Given the description of an element on the screen output the (x, y) to click on. 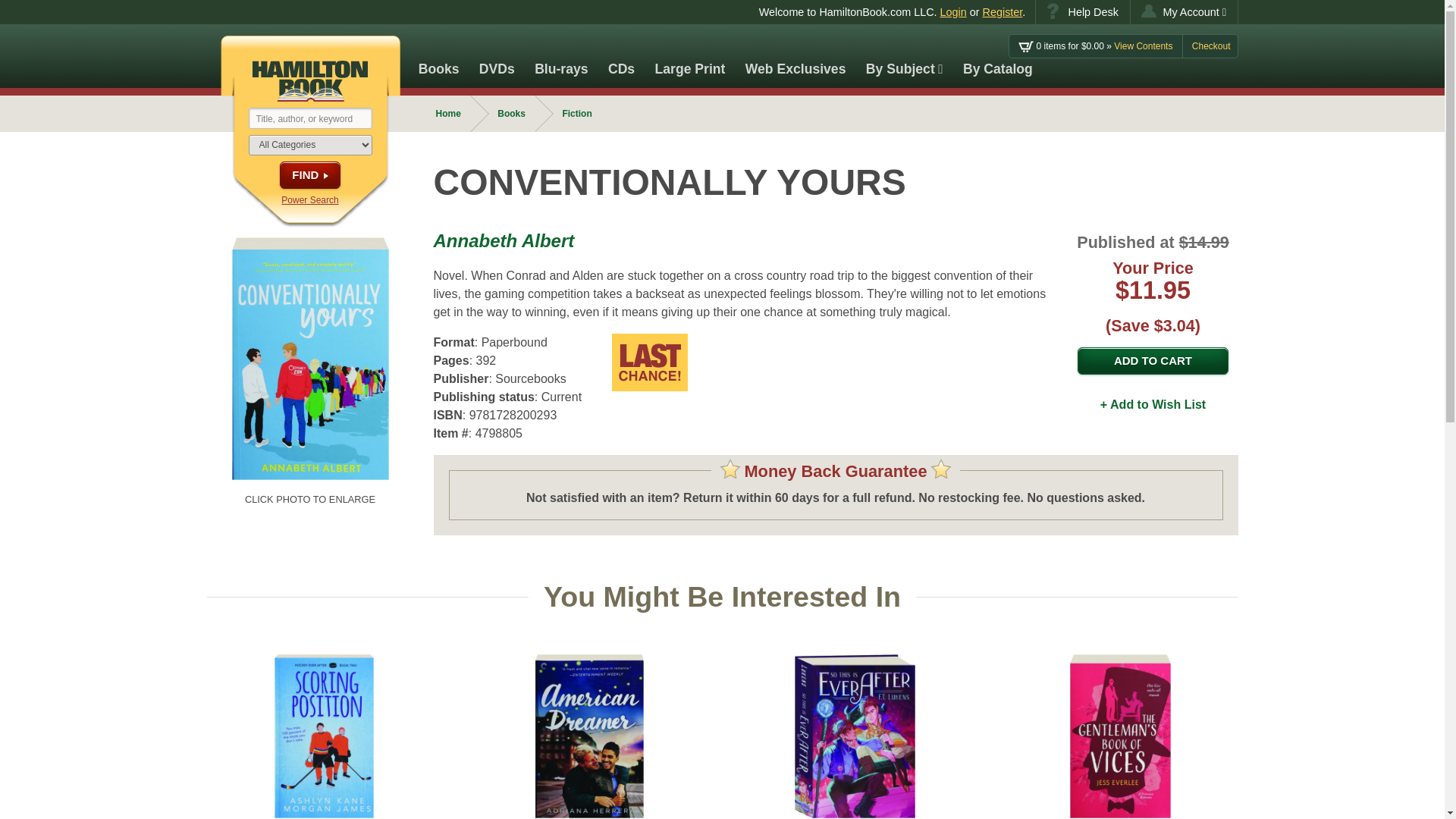
Account Icon (1148, 10)
FIND (309, 175)
Power Search (309, 199)
Large Print (690, 55)
Books (437, 55)
Blu-rays (561, 55)
Checkout (1211, 46)
Help Desk (1082, 12)
By Subject (904, 55)
Help Icon Help Desk (1082, 12)
